Given the description of an element on the screen output the (x, y) to click on. 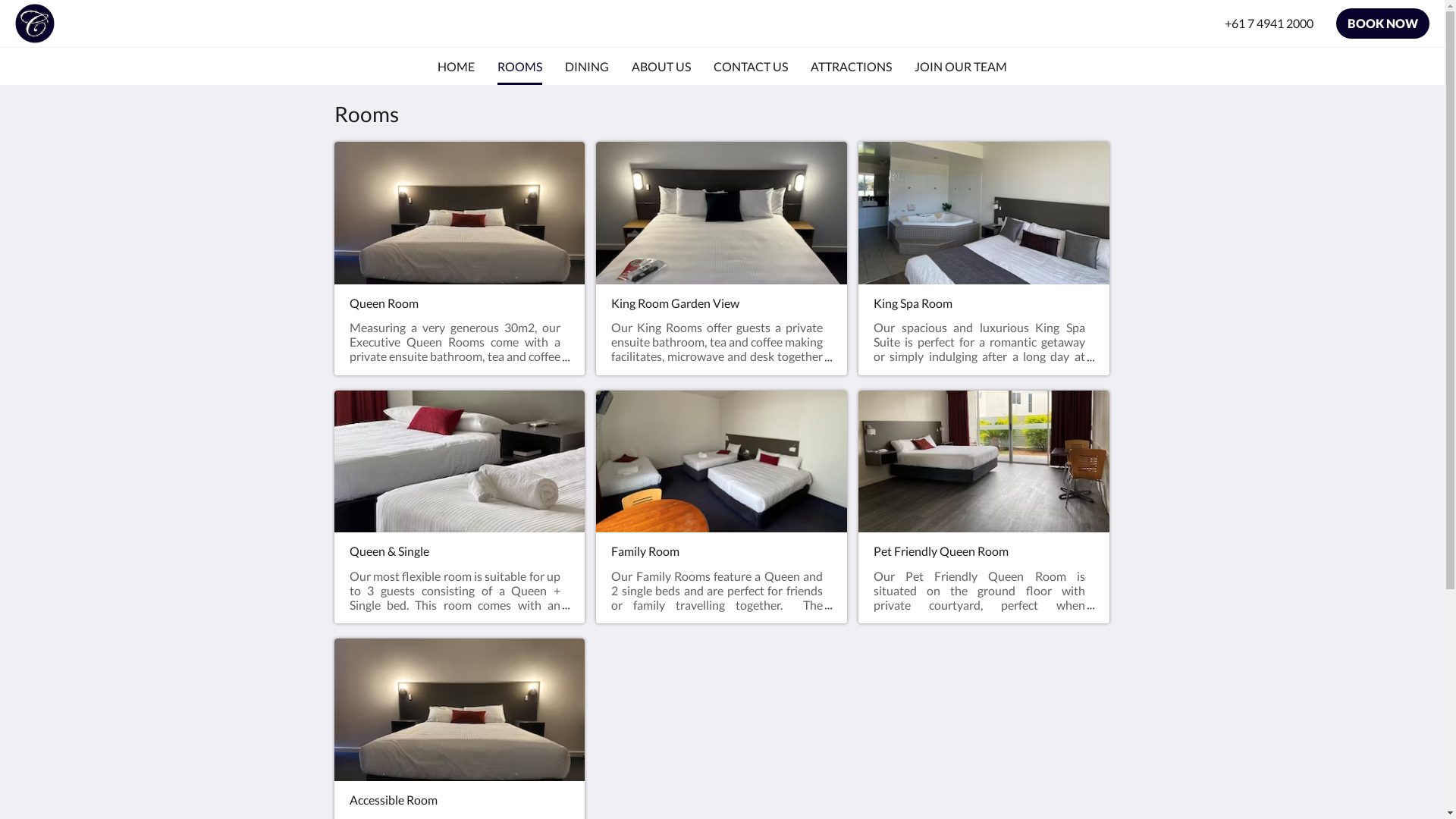
ABOUT US Element type: text (660, 66)
CONTACT US Element type: text (750, 66)
JOIN OUR TEAM Element type: text (960, 66)
BOOK NOW Element type: text (1382, 23)
+61 7 4941 2000 Element type: text (1268, 23)
ATTRACTIONS Element type: text (850, 66)
ROOMS Element type: text (519, 66)
DINING Element type: text (586, 66)
HOME Element type: text (455, 66)
